Given the description of an element on the screen output the (x, y) to click on. 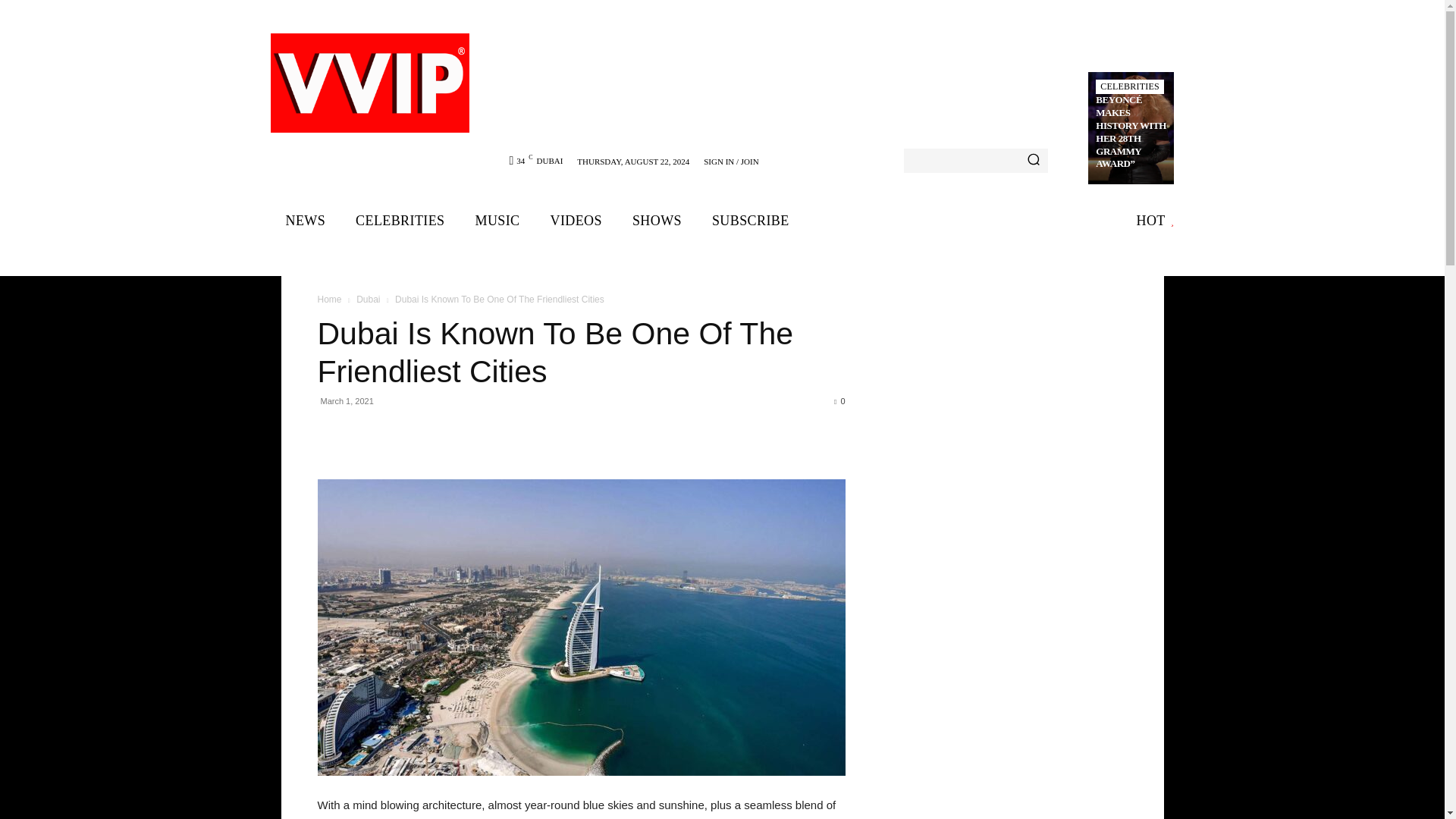
SUBSCRIBE (751, 220)
MUSIC (497, 220)
HOT (1155, 220)
CELEBRITIES (400, 220)
View all posts in Dubai (368, 299)
VIDEOS (576, 220)
NEWS (304, 220)
SHOWS (657, 220)
CELEBRITIES (1129, 86)
